Given the description of an element on the screen output the (x, y) to click on. 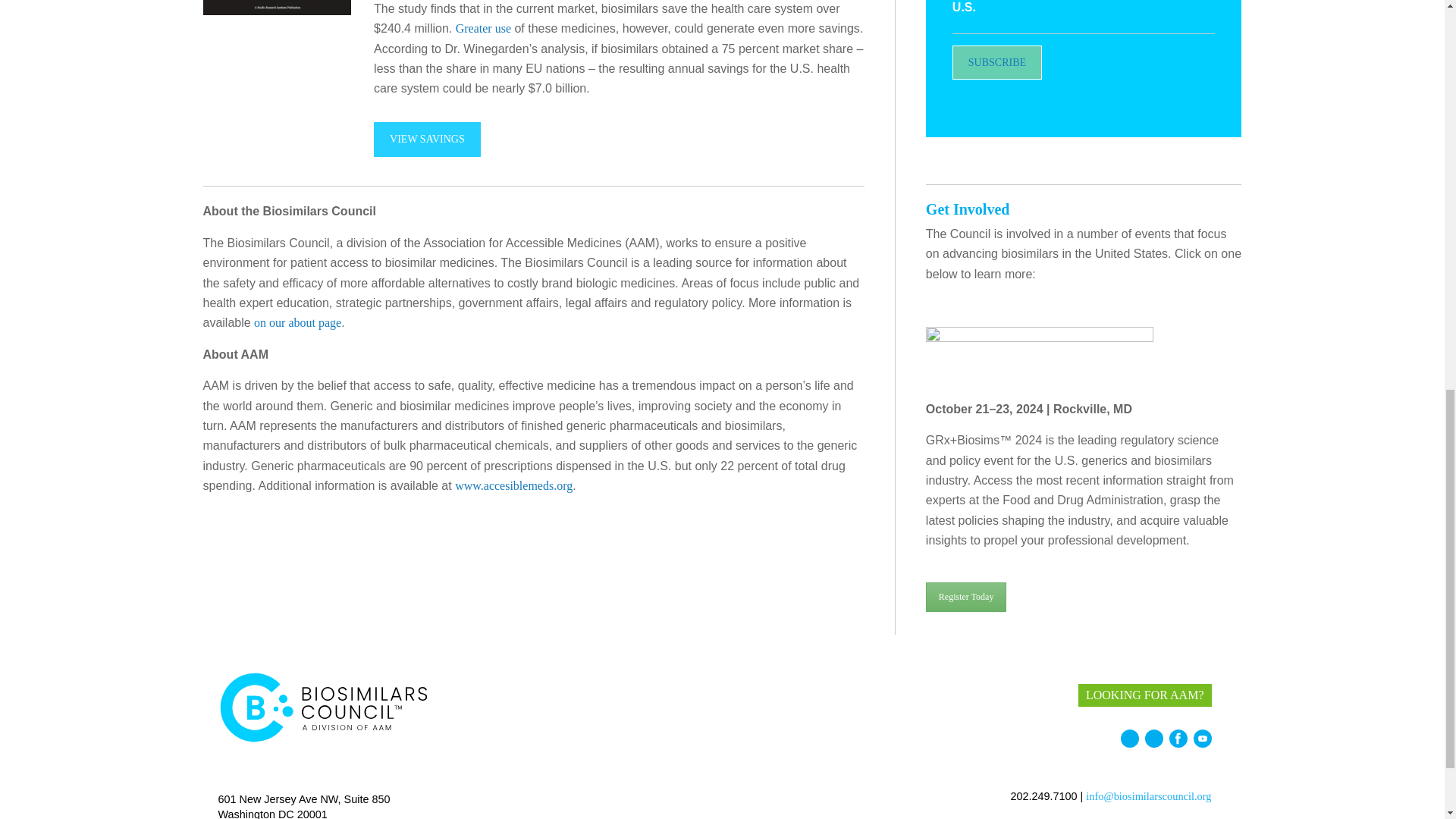
bio-logo (324, 708)
Register Today (966, 596)
EVENTS (732, 693)
SUBSCRIBE (997, 62)
VIEW SAVINGS (427, 139)
Greater use (483, 28)
PRI Study: A State Breakdown (277, 7)
RESOURCES (797, 693)
ADVOCACY (667, 693)
on our about page (296, 322)
